Given the description of an element on the screen output the (x, y) to click on. 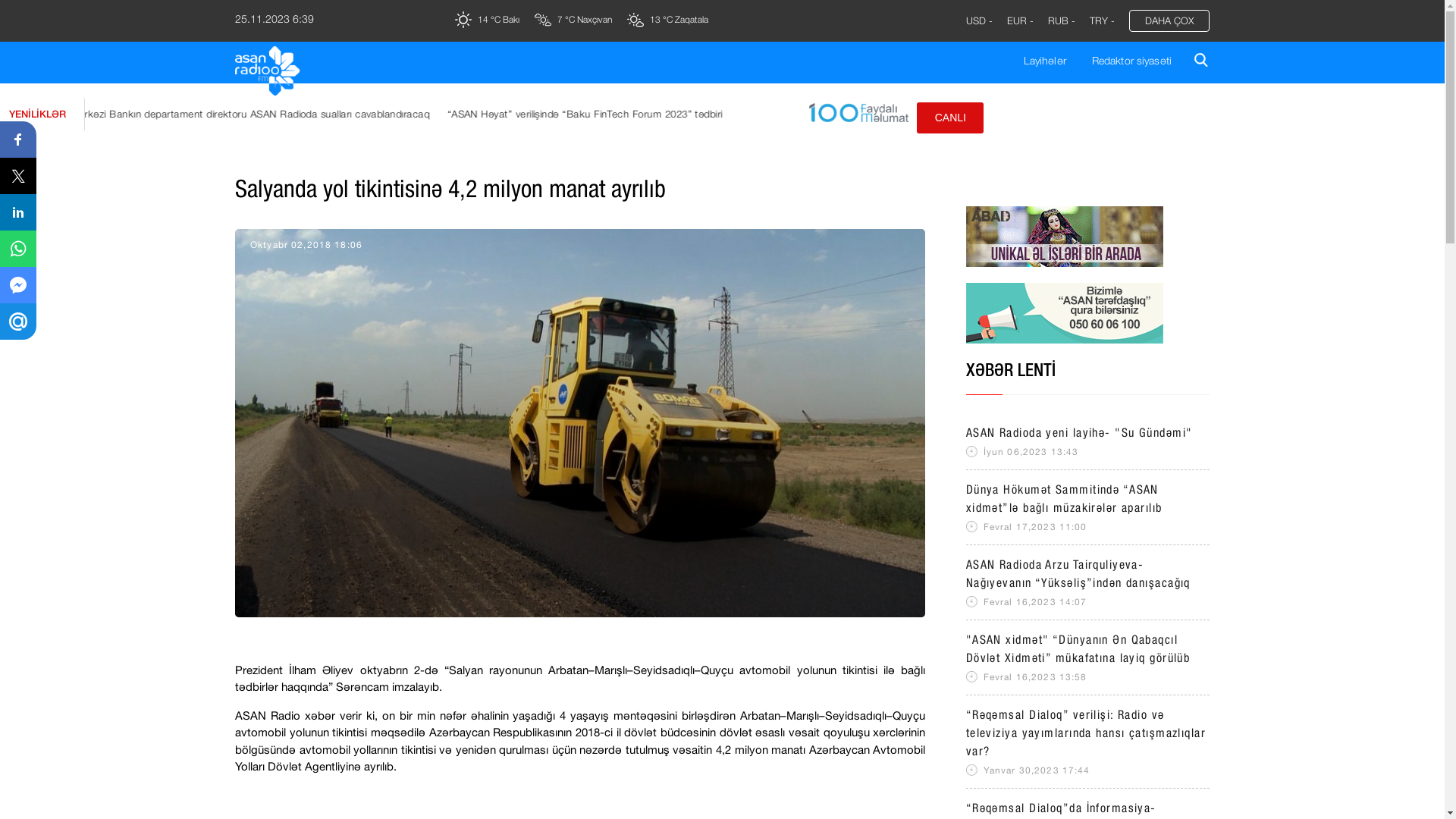
CANLI Element type: text (949, 117)
